Given the description of an element on the screen output the (x, y) to click on. 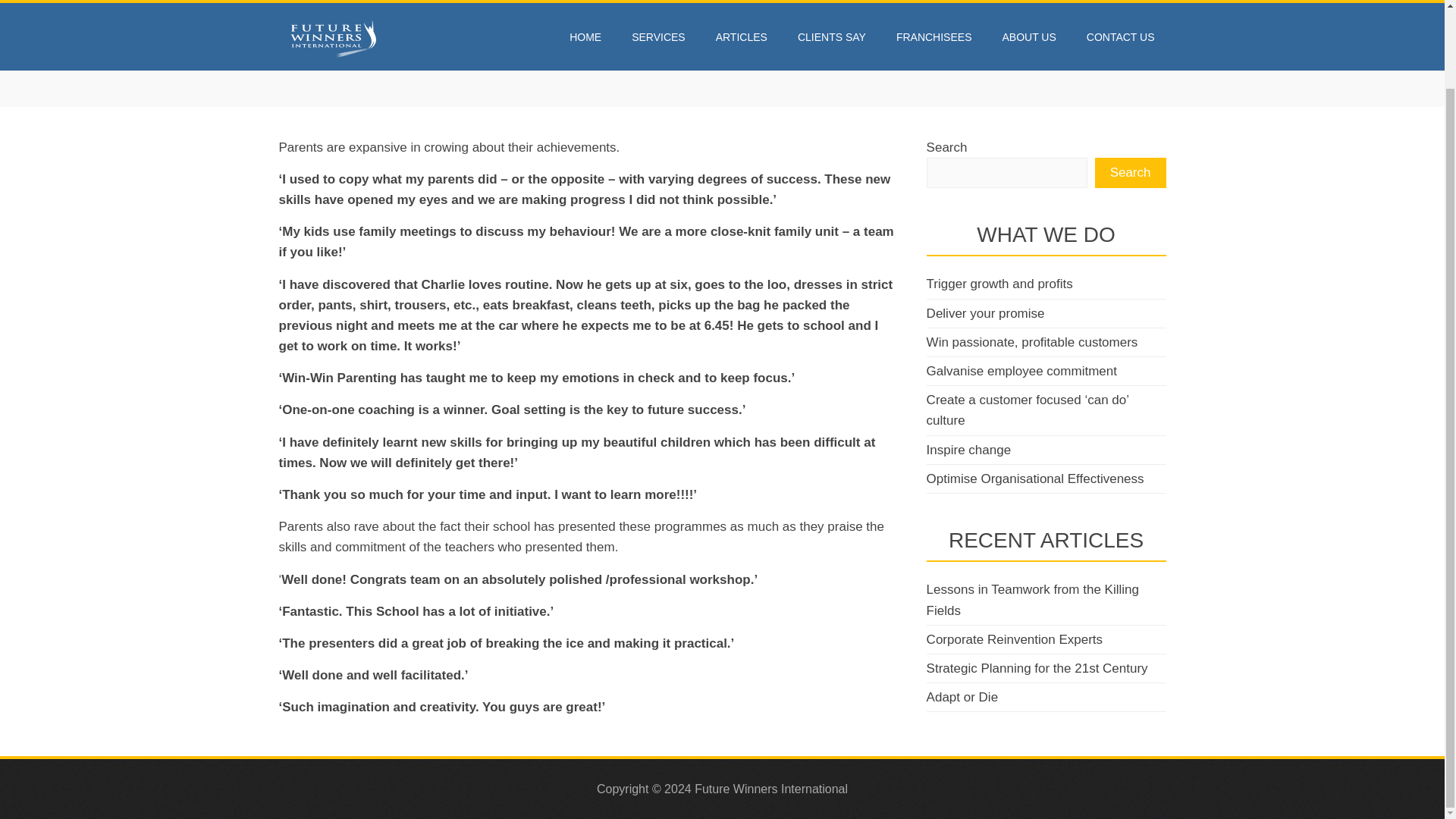
Trigger growth and profits (999, 283)
Search (1130, 173)
Home (293, 62)
Lessons in Teamwork from the Killing Fields (1032, 599)
Optimise Organisational Effectiveness (1035, 478)
Galvanise employee commitment (1021, 370)
Win passionate, profitable customers (1032, 341)
Deliver your promise (985, 313)
Inspire change (968, 450)
